Given the description of an element on the screen output the (x, y) to click on. 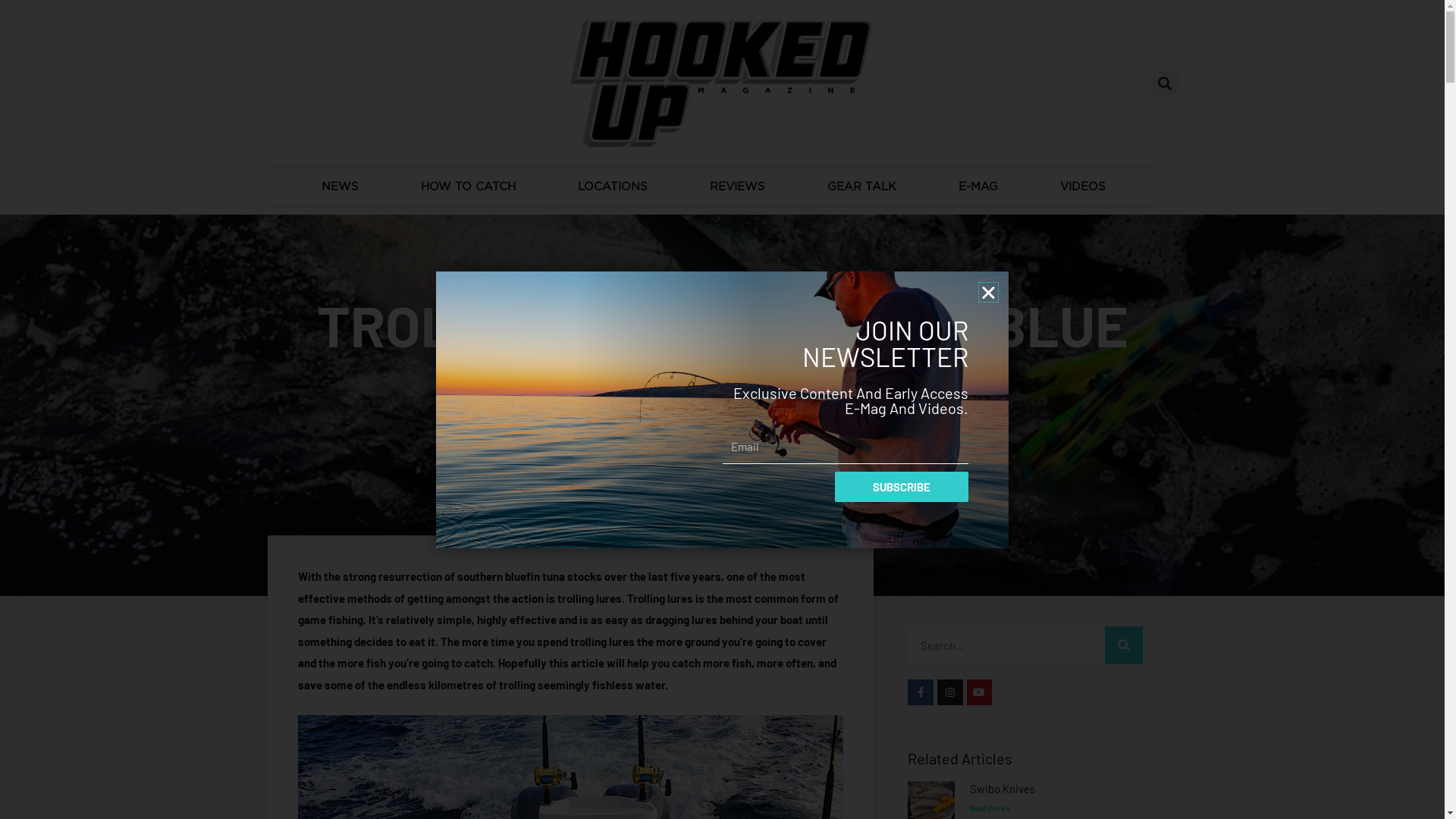
SUBSCRIBE Element type: text (901, 486)
Facebook-f Element type: text (920, 692)
E-MAG Element type: text (977, 186)
Swibo Knives Element type: text (1002, 788)
Youtube Element type: text (979, 692)
Southern Bluefin Tuna Element type: text (722, 277)
NEWS Element type: text (339, 186)
LOCATIONS Element type: text (611, 186)
VIDEOS Element type: text (1081, 186)
SEARCH Element type: text (1123, 645)
REVIEWS Element type: text (736, 186)
GEAR TALK Element type: text (861, 186)
HOW TO CATCH Element type: text (467, 186)
Instagram Element type: text (950, 692)
